Given the description of an element on the screen output the (x, y) to click on. 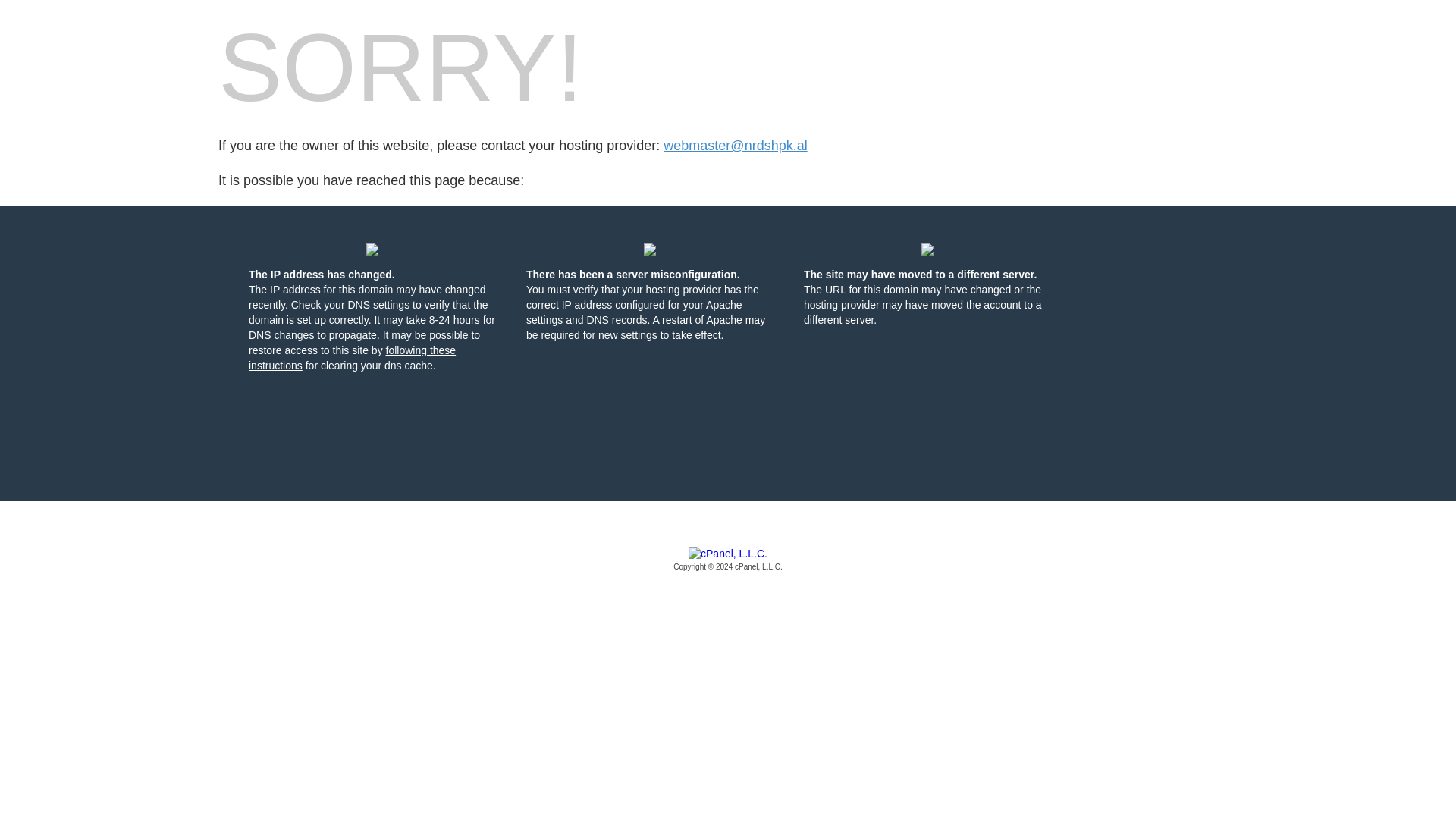
Click this link to contact the host (734, 145)
cPanel, L.L.C. (727, 559)
following these instructions (351, 357)
